Given the description of an element on the screen output the (x, y) to click on. 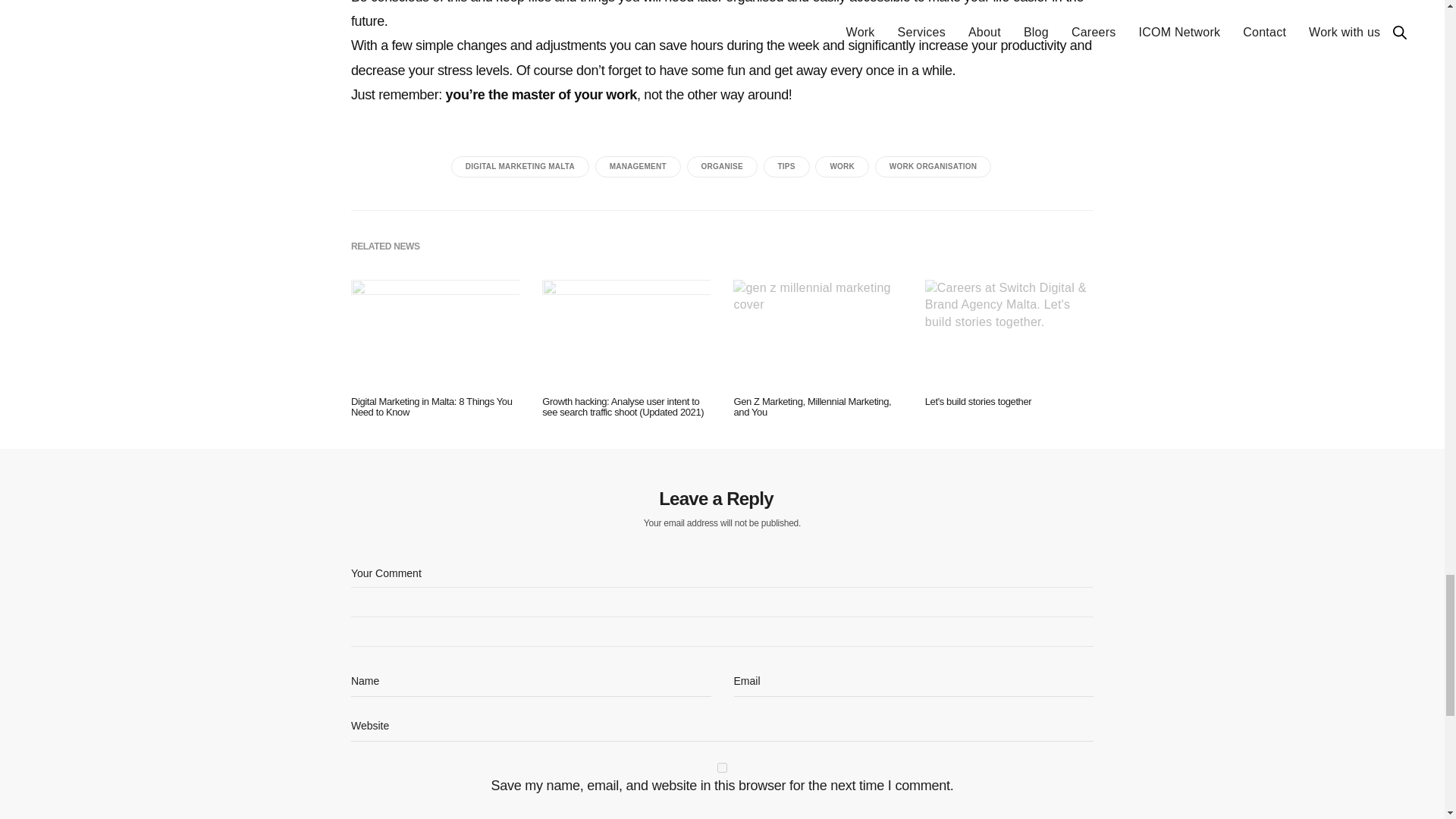
MANAGEMENT (638, 166)
yes (721, 767)
DIGITAL MARKETING MALTA (520, 166)
TIPS (785, 166)
WORK (842, 166)
Gen Z Marketing, Millennial Marketing, and You (817, 336)
Digital Marketing in Malta: 8 Things You Need to Know (434, 336)
WORK ORGANISATION (933, 166)
ORGANISE (722, 166)
Digital Marketing in Malta: 8 Things You Need to Know (434, 407)
Digital Marketing in Malta: 8 Things You Need to Know (434, 407)
